Given the description of an element on the screen output the (x, y) to click on. 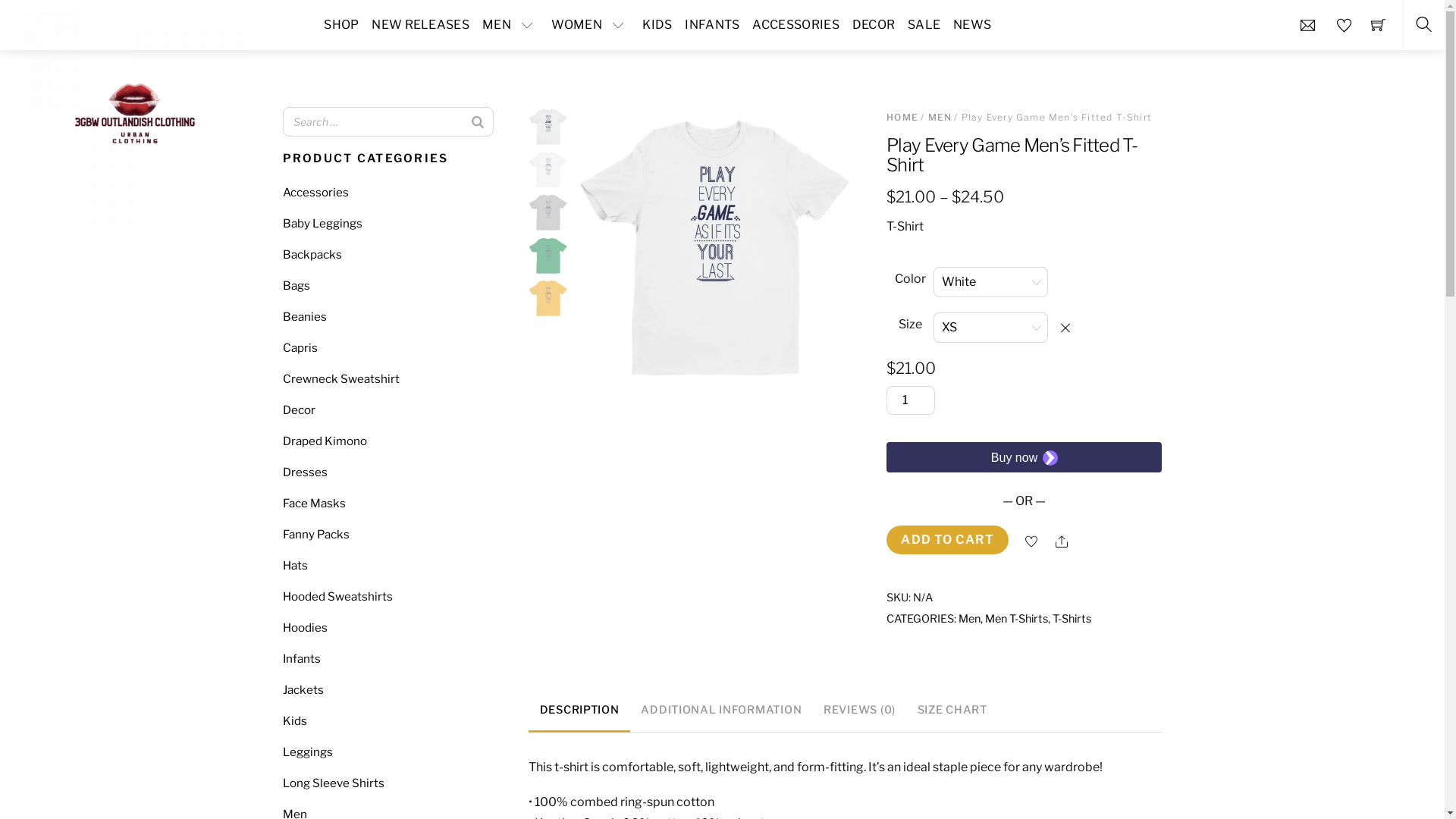
DECOR Element type: text (873, 25)
mockup-16029903.jpg Element type: hover (547, 169)
Dresses Element type: text (304, 471)
SALE Element type: text (924, 25)
INFANTS Element type: text (712, 25)
mockup-3e3eab0d.jpg Element type: hover (547, 297)
ADDITIONAL INFORMATION Element type: text (721, 711)
REVIEWS (0) Element type: text (859, 711)
Hats Element type: text (294, 565)
MEN Element type: text (940, 116)
DESCRIPTION Element type: text (579, 711)
T-Shirts Element type: text (1071, 618)
Draped Kimono Element type: text (324, 440)
ACCESSORIES Element type: text (795, 25)
Baby Leggings Element type: text (321, 223)
SIZE CHART Element type: text (951, 711)
Decor Element type: text (298, 409)
Leggings Element type: text (307, 751)
Bags Element type: text (295, 285)
Fanny Packs Element type: text (315, 534)
MEN Element type: text (509, 25)
mockup-16029903.jpg Element type: hover (715, 246)
mockup-982b0c92.jpg Element type: hover (547, 212)
Hoodies Element type: text (304, 627)
Capris Element type: text (299, 347)
Secure payment button frame Element type: hover (1023, 457)
Long Sleeve Shirts Element type: text (332, 782)
Backpacks Element type: text (311, 254)
Jackets Element type: text (302, 689)
WOMEN Element type: text (590, 25)
Hooded Sweatshirts Element type: text (337, 596)
Crewneck Sweatshirt Element type: text (340, 378)
Men T-Shirts Element type: text (1016, 618)
mockup-93f6cf50.jpg Element type: hover (547, 255)
NEW RELEASES Element type: text (420, 25)
Kids Element type: text (294, 720)
NEWS Element type: text (972, 25)
Beanies Element type: text (304, 316)
KIDS Element type: text (657, 25)
Men Element type: text (969, 618)
Face Masks Element type: text (313, 502)
mockup-3e3eab0d.jpg Element type: hover (547, 126)
SHOP Element type: text (341, 25)
Clear Element type: text (1072, 327)
Accessories Element type: text (315, 192)
ADD TO CART Element type: text (947, 539)
Infants Element type: text (301, 658)
HOME Element type: text (902, 116)
3GBW Outlandish Clothing Element type: hover (134, 111)
3GBW Outlandish Clothing Element type: hover (134, 113)
